Given the description of an element on the screen output the (x, y) to click on. 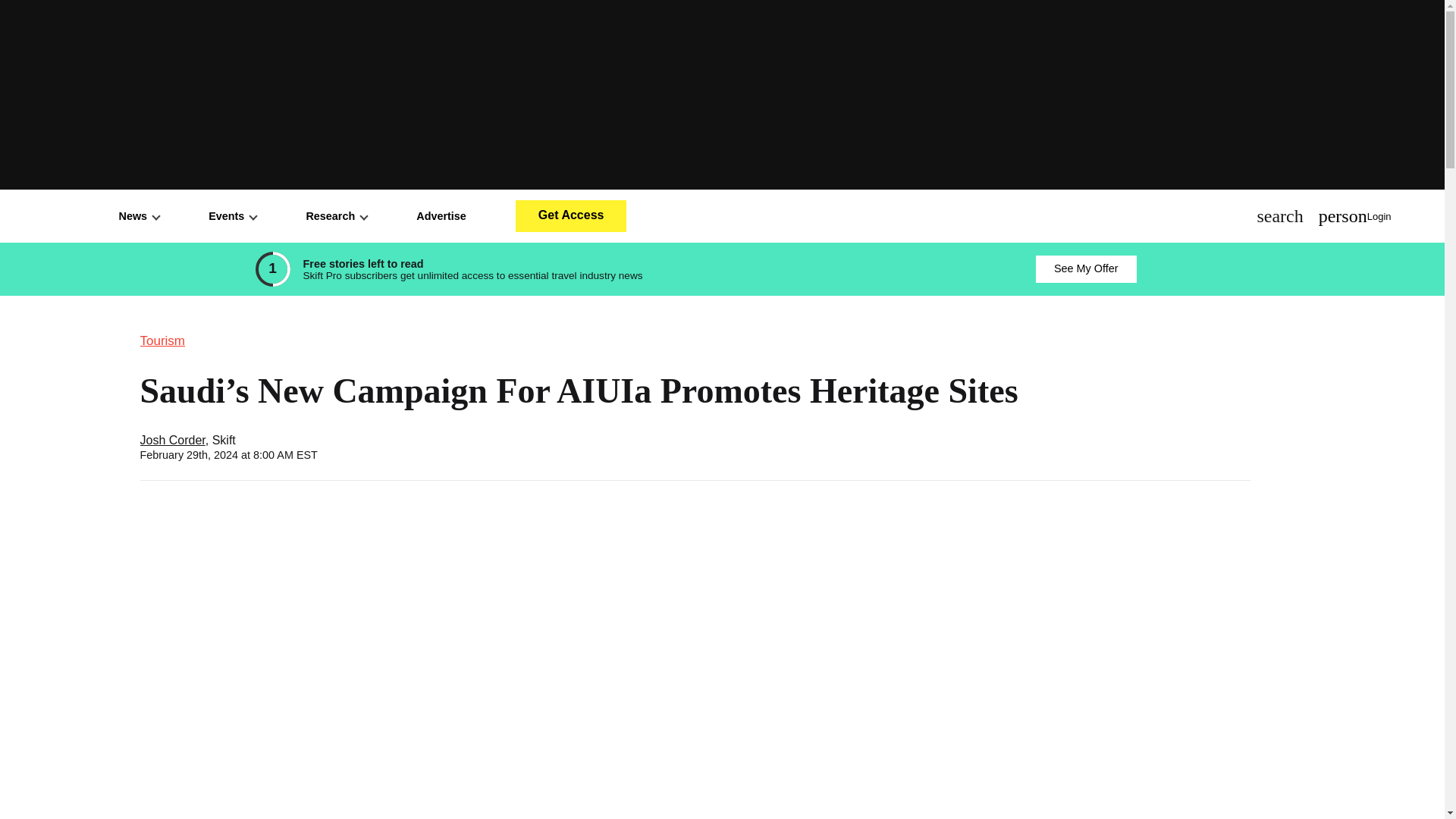
Research (335, 215)
Events (232, 215)
